Given the description of an element on the screen output the (x, y) to click on. 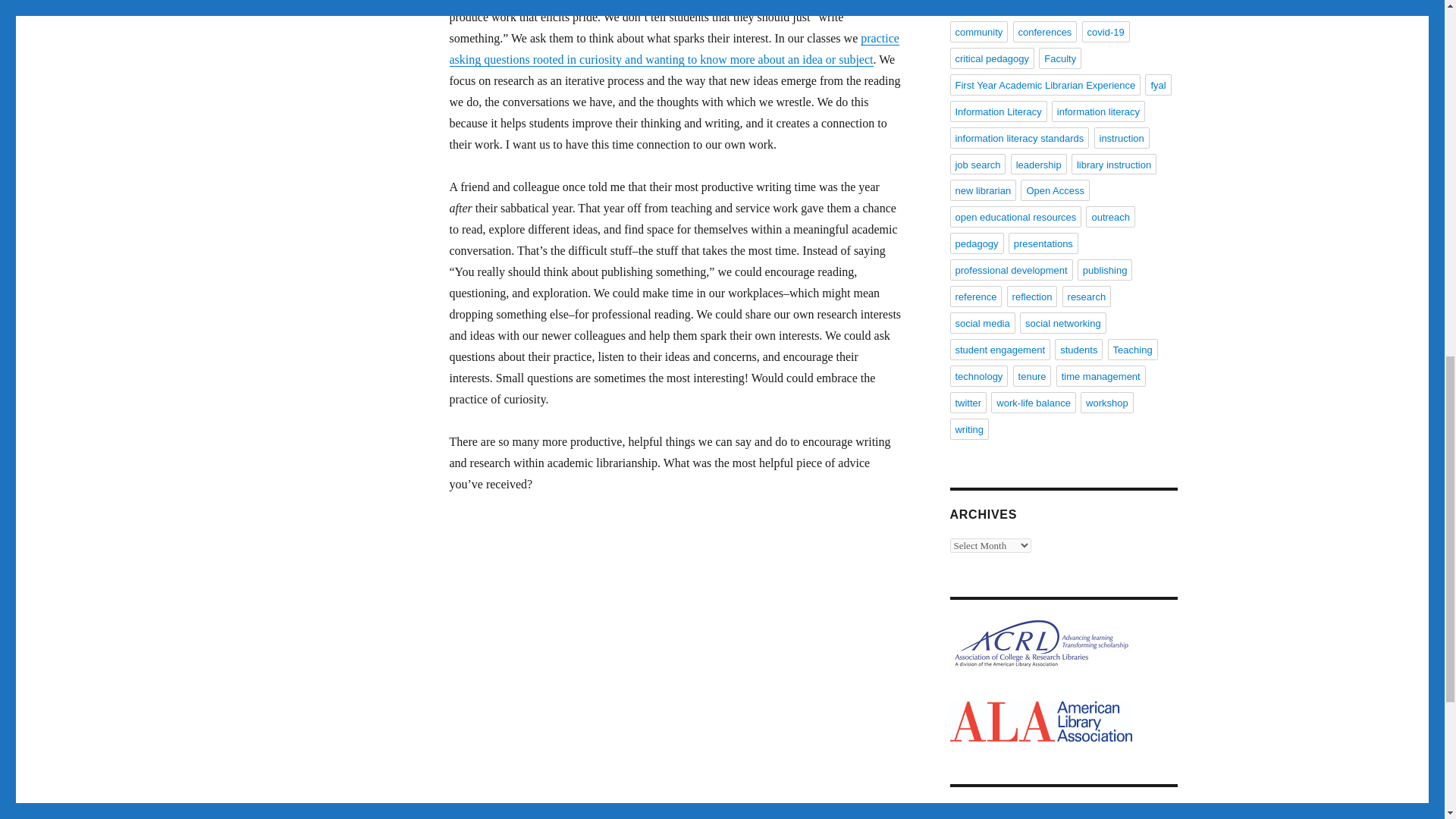
communication (1103, 7)
collection development (1004, 7)
